Given the description of an element on the screen output the (x, y) to click on. 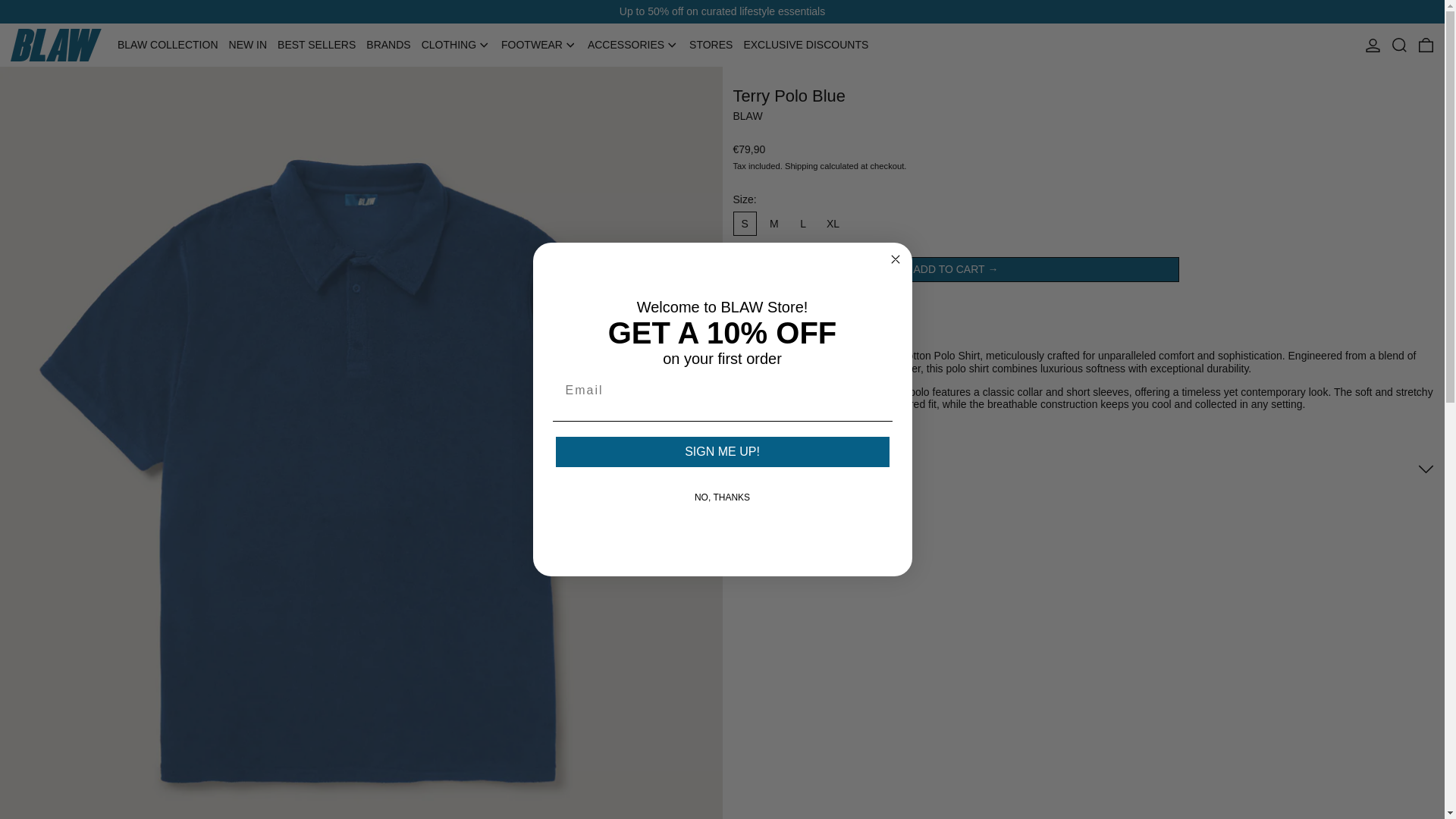
BLAW COLLECTION (167, 44)
BEST SELLERS (316, 44)
BLAW (746, 115)
CLOTHING (449, 45)
BRANDS (388, 44)
Close dialog 1 (894, 259)
ACCESSORIES (625, 45)
NEW IN (247, 44)
FOOTWEAR (531, 45)
